Given the description of an element on the screen output the (x, y) to click on. 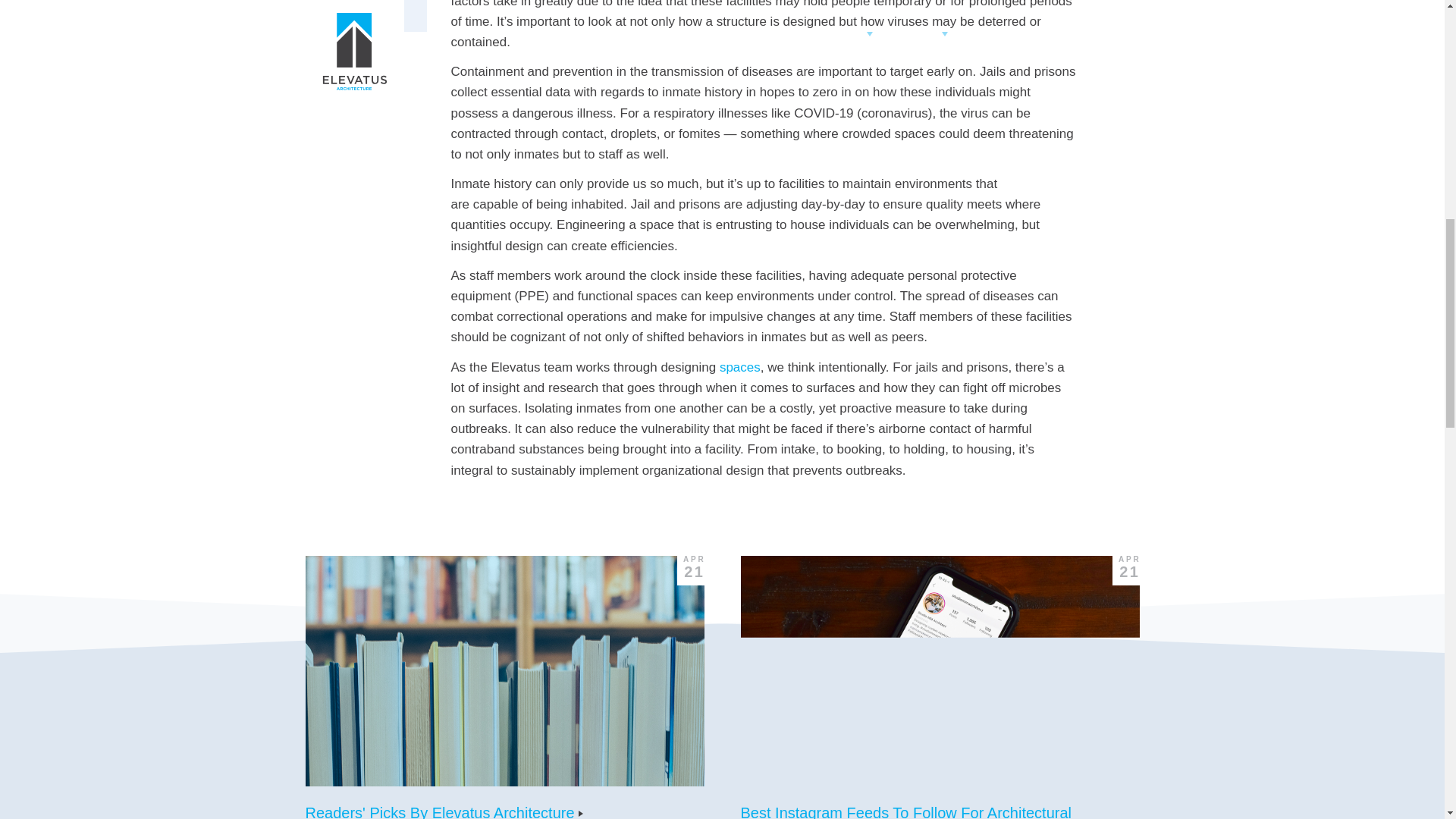
Justice (331, 14)
spaces (739, 367)
Readers' Picks By Elevatus Architecture (449, 811)
Best Instagram Feeds To Follow For Architectural Inspiration (904, 811)
